Given the description of an element on the screen output the (x, y) to click on. 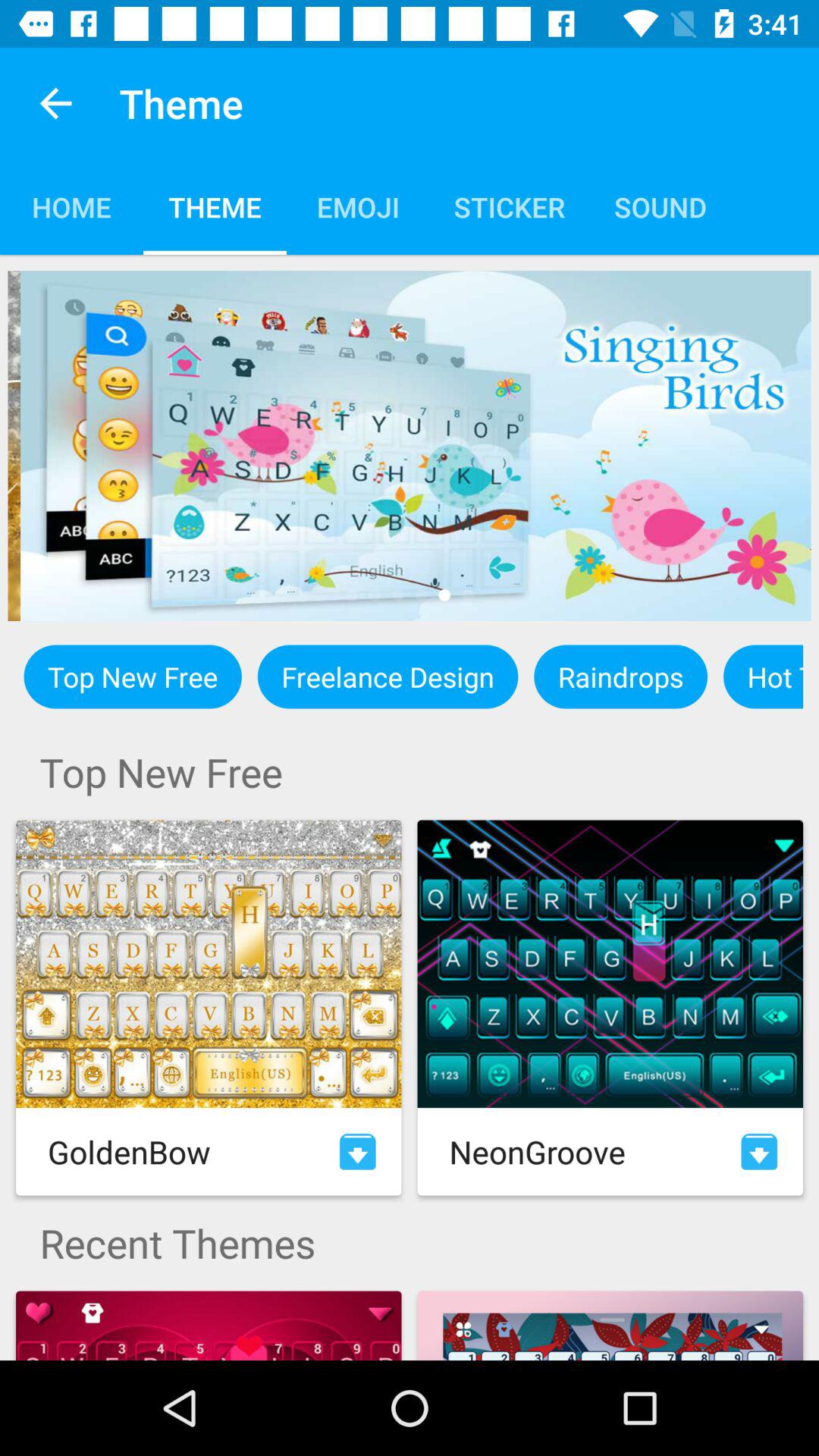
enlarge picture (409, 445)
